Given the description of an element on the screen output the (x, y) to click on. 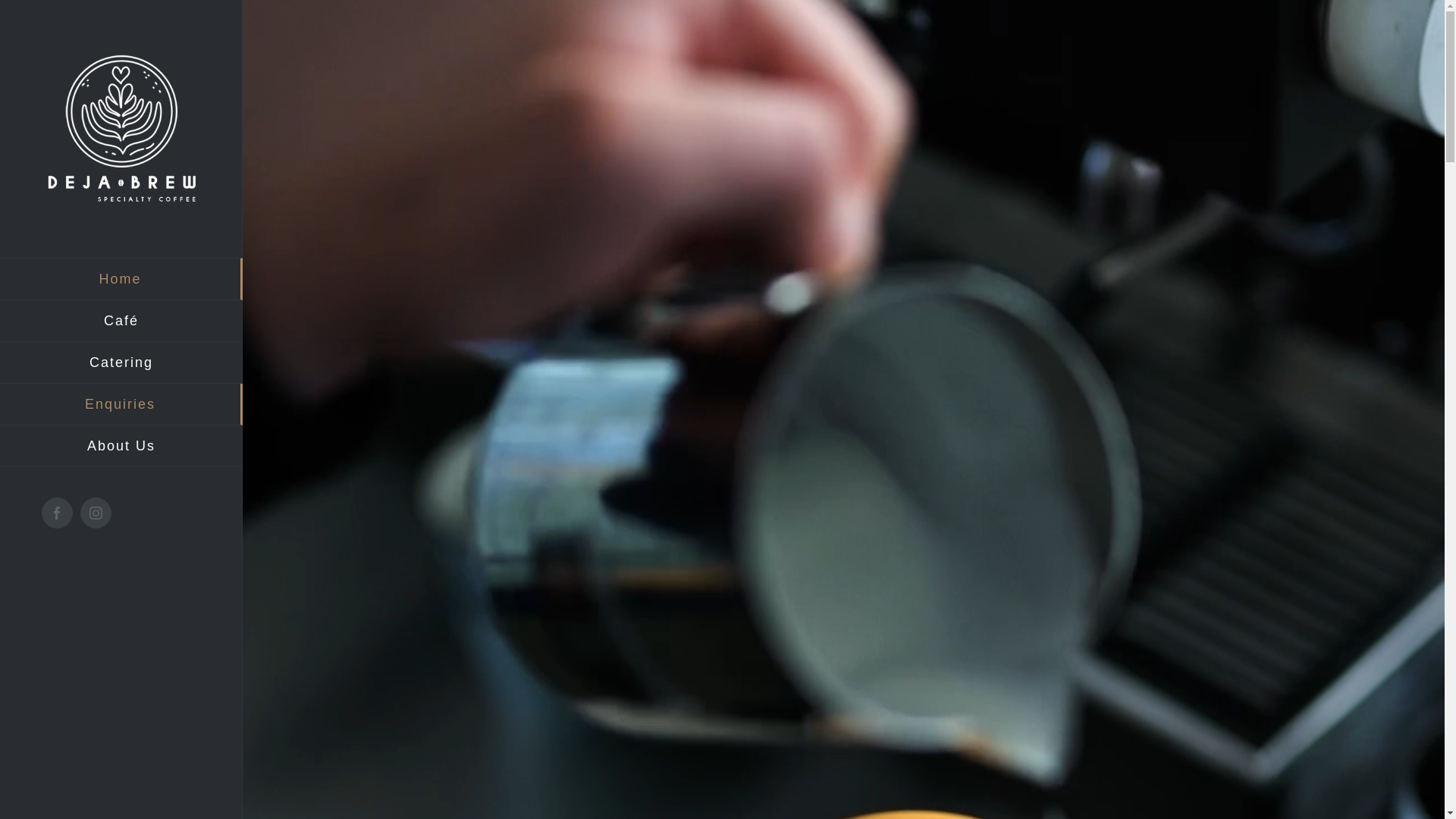
Enquiries Element type: text (121, 404)
Catering Element type: text (121, 362)
Instagram Element type: text (95, 512)
Home Element type: text (121, 278)
Facebook Element type: text (56, 512)
About Us Element type: text (121, 446)
